Given the description of an element on the screen output the (x, y) to click on. 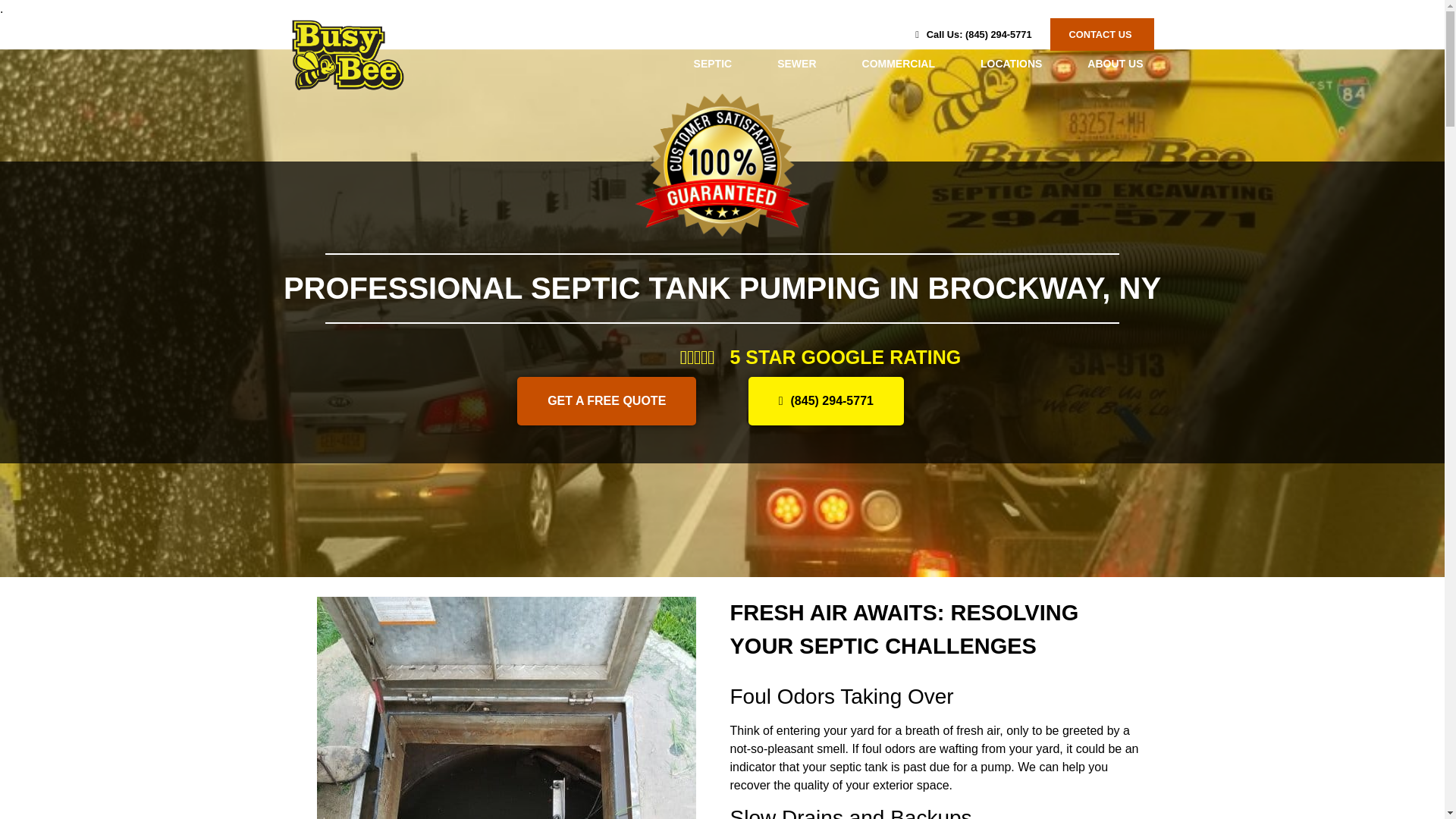
ABOUT US (1114, 63)
CONTACT US (1101, 34)
SEPTIC (713, 63)
SEWER (796, 63)
LOCATIONS (1010, 63)
COMMERCIAL (898, 63)
